Given the description of an element on the screen output the (x, y) to click on. 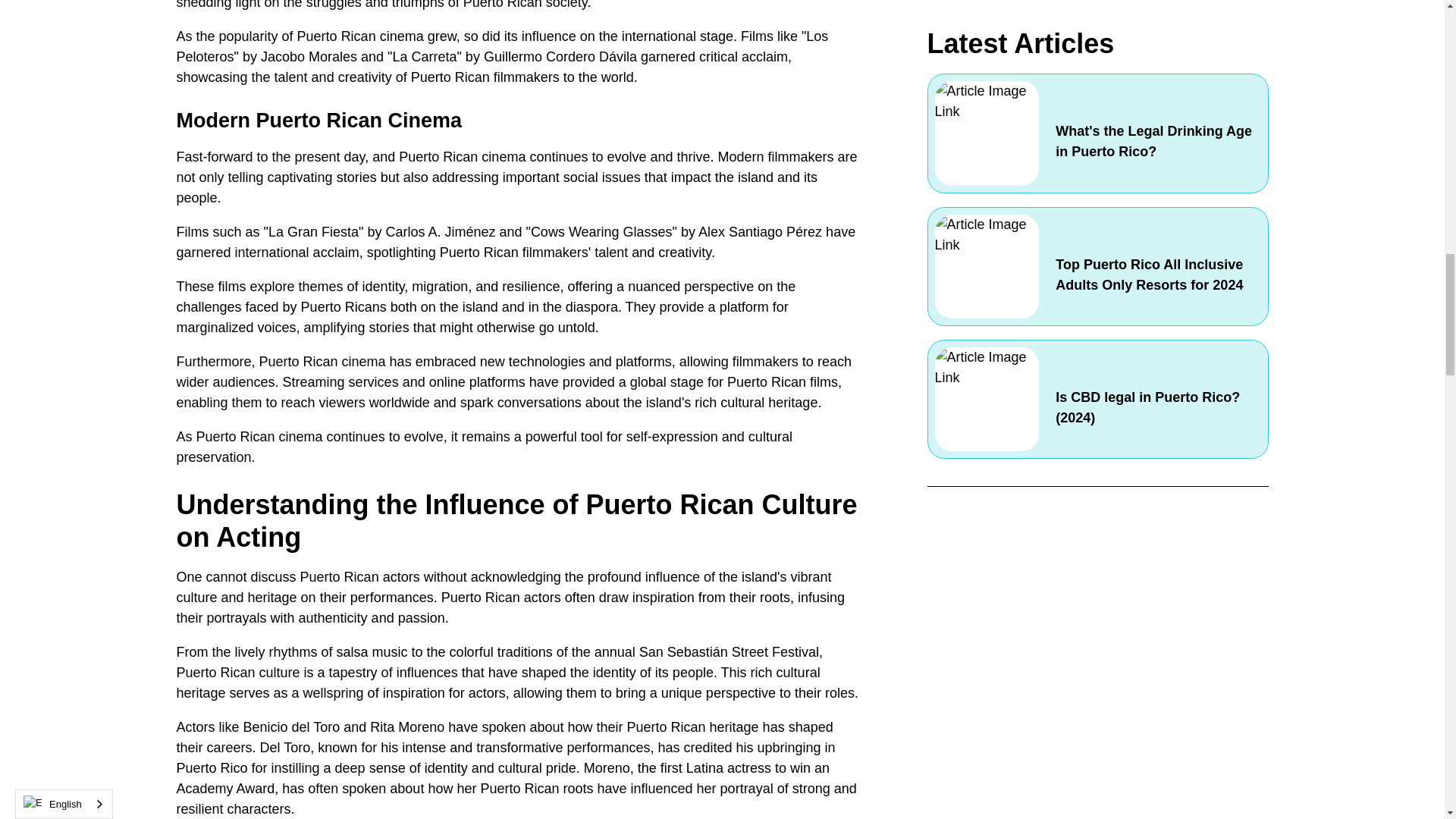
Benicio del Toro (291, 726)
La Gran Fiesta (312, 231)
Cows Wearing Glasses (601, 231)
